Given the description of an element on the screen output the (x, y) to click on. 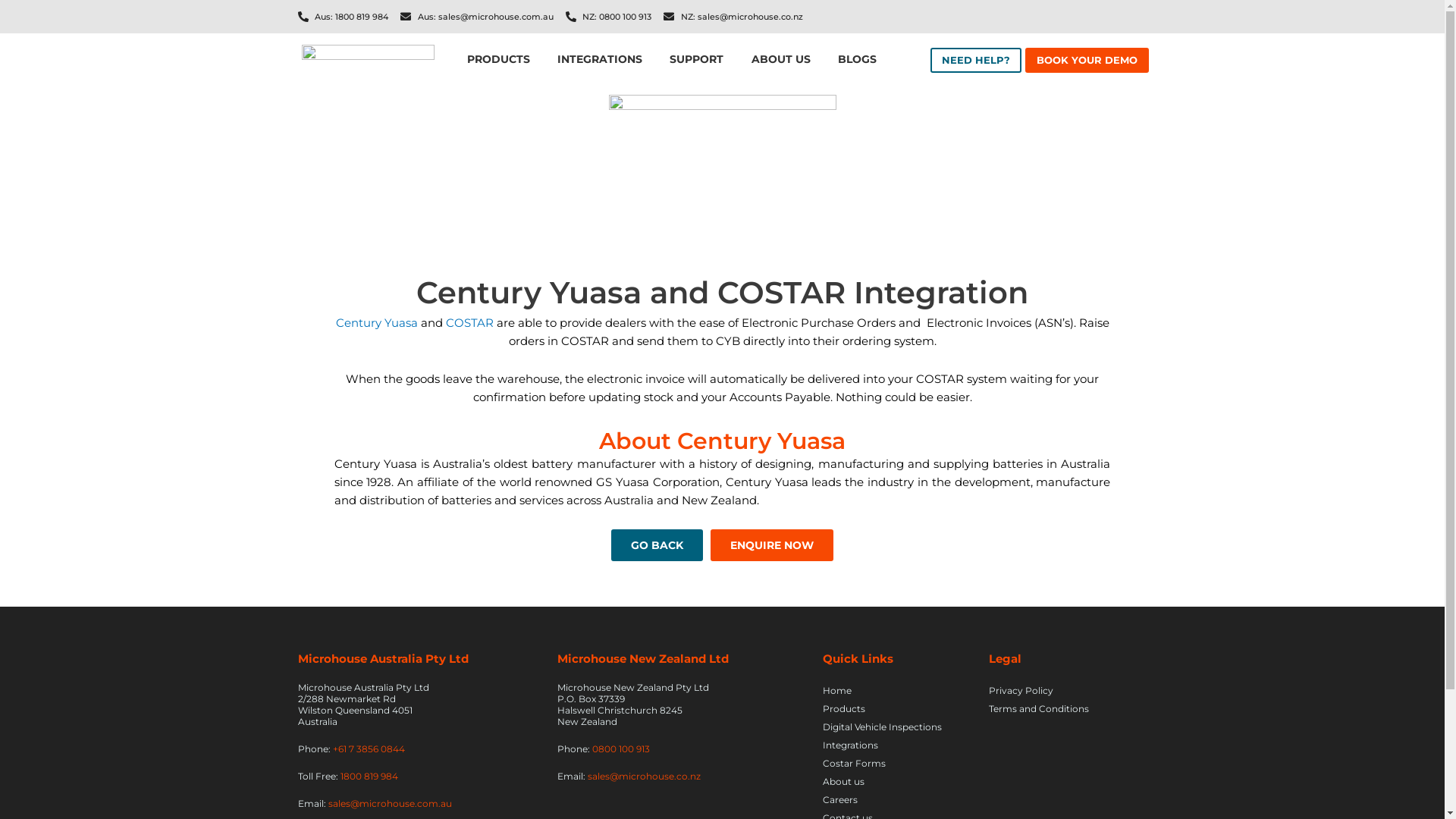
Costar Forms Element type: text (897, 763)
INTEGRATIONS Element type: text (599, 59)
Privacy Policy Element type: text (1057, 690)
GO BACK Element type: text (656, 545)
sales@microhouse.co.nz Element type: text (642, 775)
Digital Vehicle Inspections Element type: text (897, 727)
NZ: sales@microhouse.co.nz Element type: text (733, 16)
NEED HELP? Element type: text (975, 59)
Integrations Element type: text (897, 745)
ENQUIRE NOW Element type: text (771, 545)
Century Yuasa Element type: text (376, 322)
Products Element type: text (897, 708)
Aus: 1800 819 984 Element type: text (342, 16)
NZ: 0800 100 913 Element type: text (608, 16)
sales@microhouse.com.au Element type: text (389, 803)
1800 819 984 Element type: text (368, 775)
ABOUT US Element type: text (780, 59)
Terms and Conditions Element type: text (1057, 708)
0800 100 913 Element type: text (620, 748)
About us Element type: text (897, 781)
PRODUCTS Element type: text (498, 59)
BOOK YOUR DEMO Element type: text (1086, 59)
BLOGS Element type: text (857, 59)
Careers Element type: text (897, 799)
+61 7 3856 0844 Element type: text (368, 748)
SUPPORT Element type: text (696, 59)
COSTAR Element type: text (469, 322)
Home Element type: text (897, 690)
Aus: sales@microhouse.com.au Element type: text (476, 16)
